Given the description of an element on the screen output the (x, y) to click on. 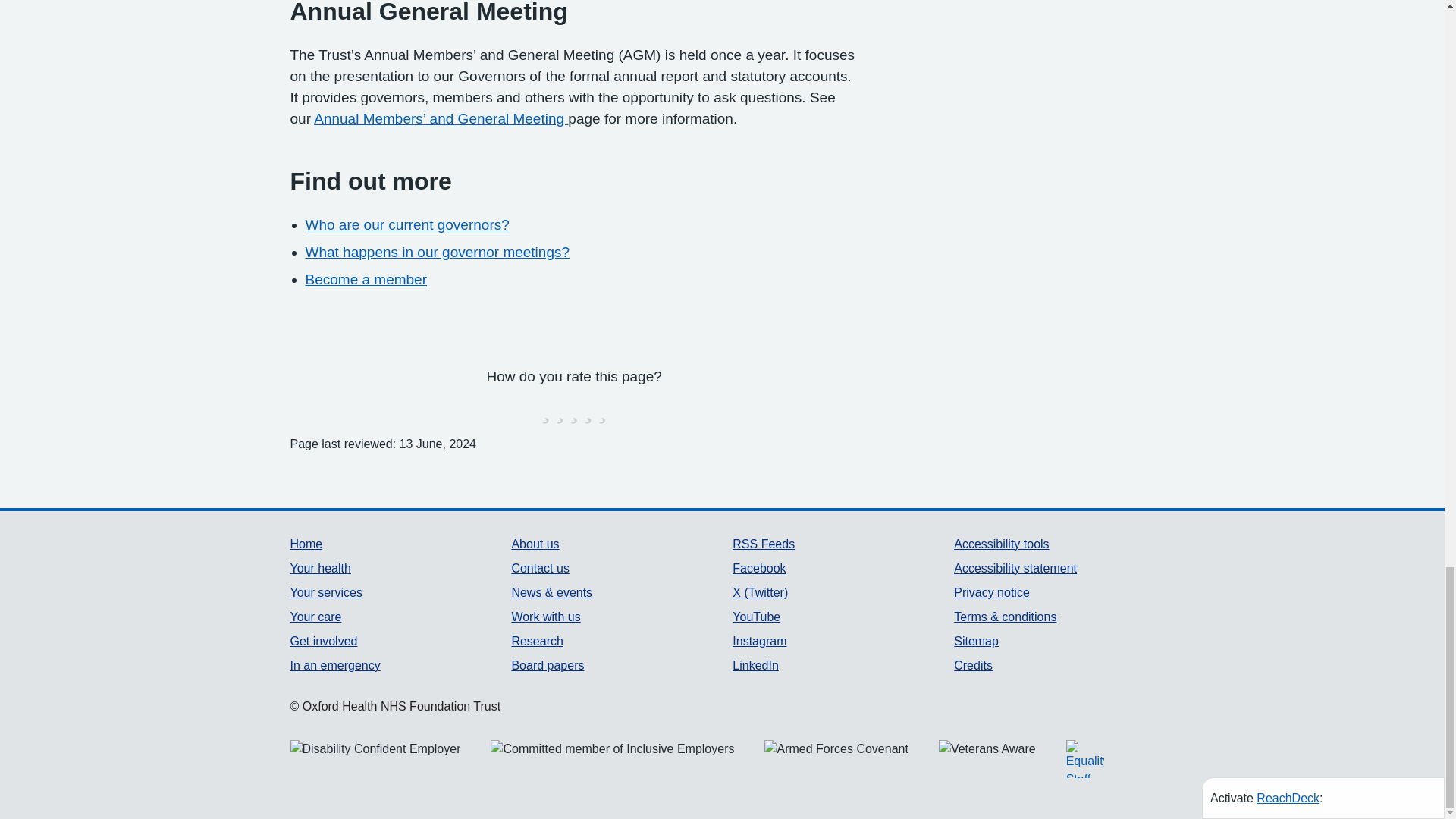
Who are our current governors? (406, 224)
Become a member (365, 279)
What happens in our governor meetings? (436, 252)
